Given the description of an element on the screen output the (x, y) to click on. 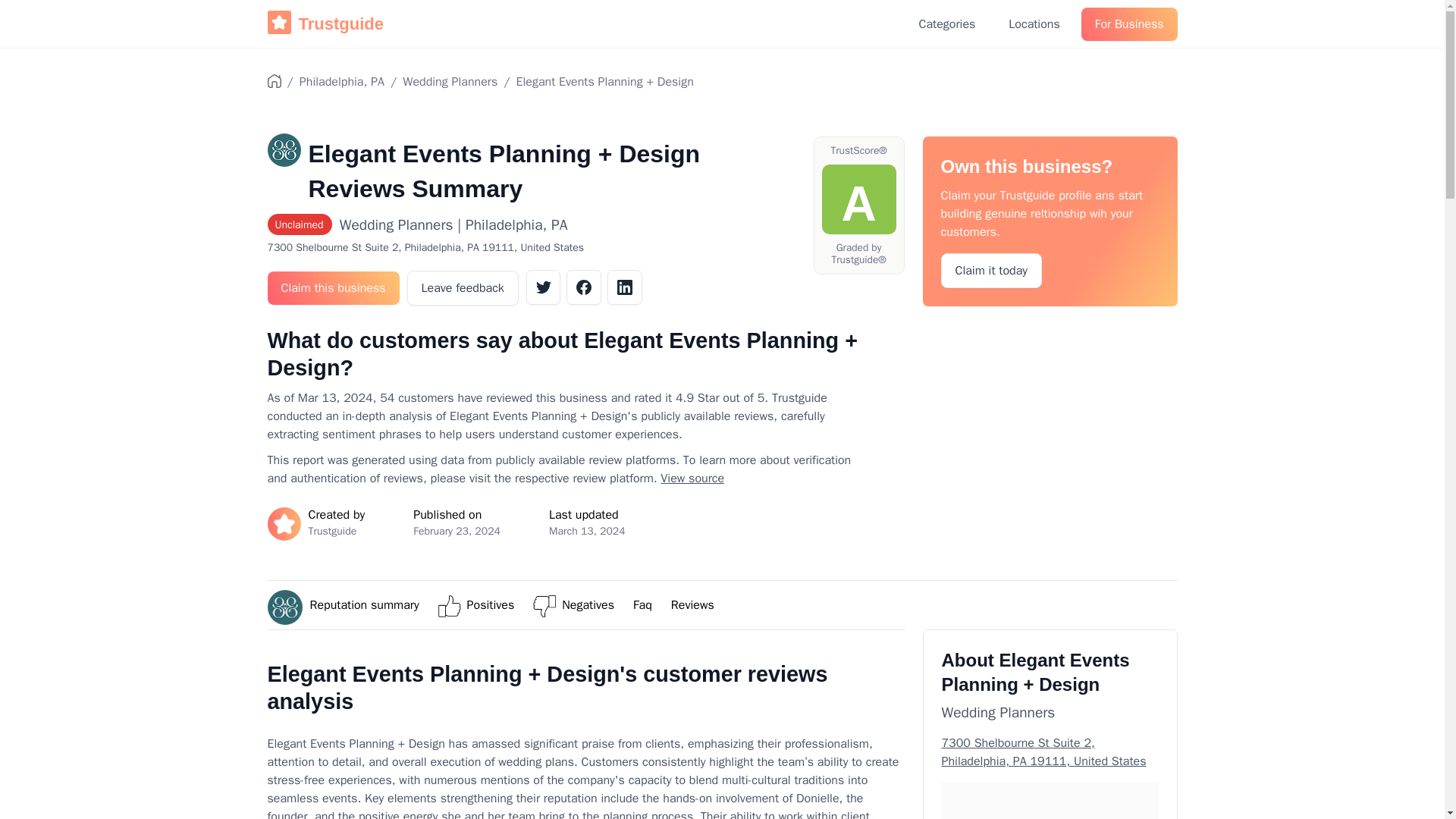
Wedding Planners (450, 81)
Positives (491, 604)
Categories (947, 23)
View source (692, 478)
Leave feedback (462, 288)
Reputation summary (363, 604)
Claim it today (991, 270)
Negatives (588, 604)
Trustguide (324, 23)
Reviews (692, 604)
